Given the description of an element on the screen output the (x, y) to click on. 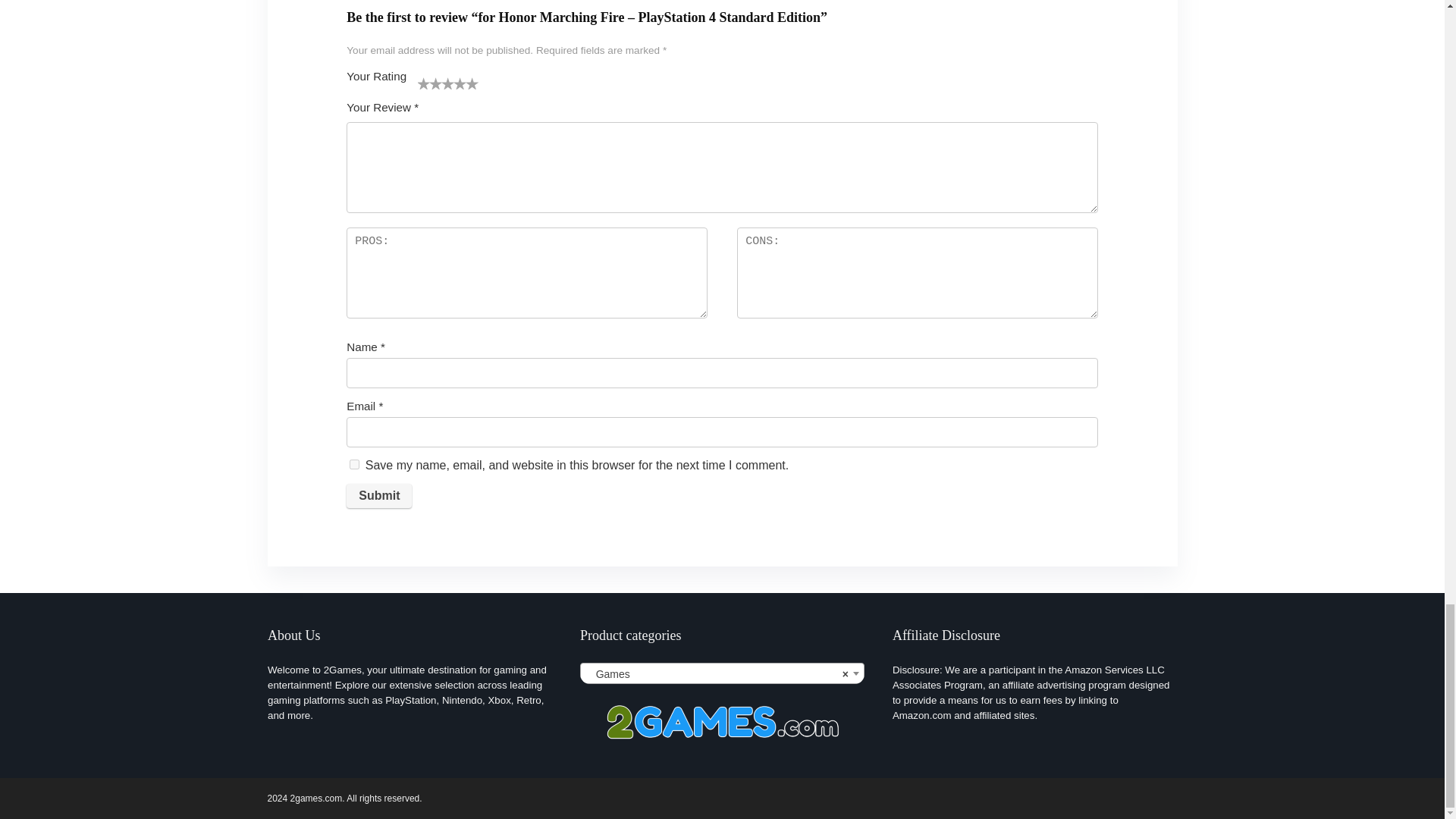
yes (354, 464)
Submit (379, 495)
